Given the description of an element on the screen output the (x, y) to click on. 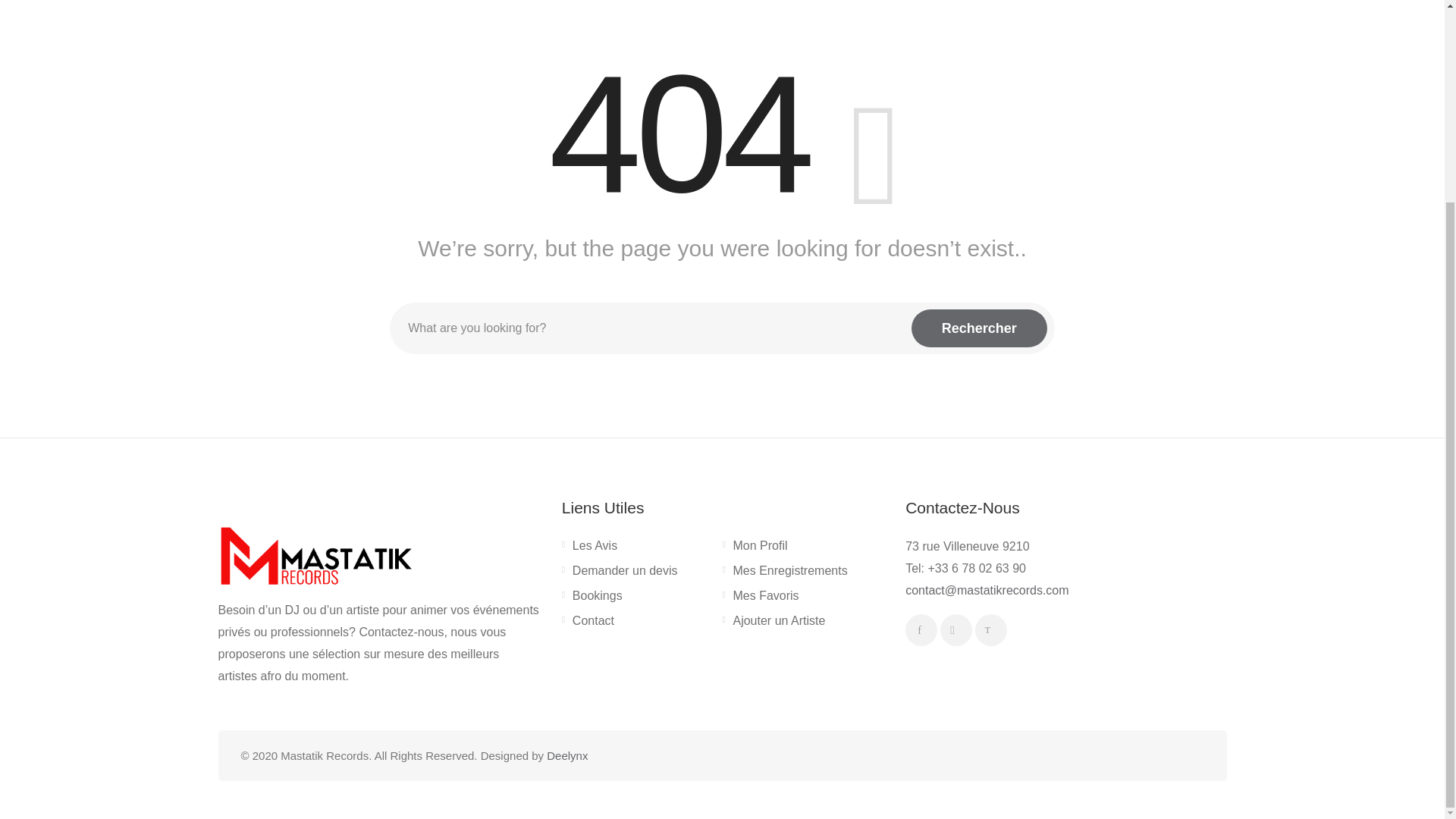
Contact (588, 623)
Ajouter un Artiste (773, 623)
Les Avis (589, 548)
Demander un devis (620, 573)
Mes Enregistrements (784, 573)
Mon Profil (754, 548)
Rechercher (978, 328)
Mes Favoris (759, 599)
Deelynx (567, 755)
Bookings (592, 599)
